Given the description of an element on the screen output the (x, y) to click on. 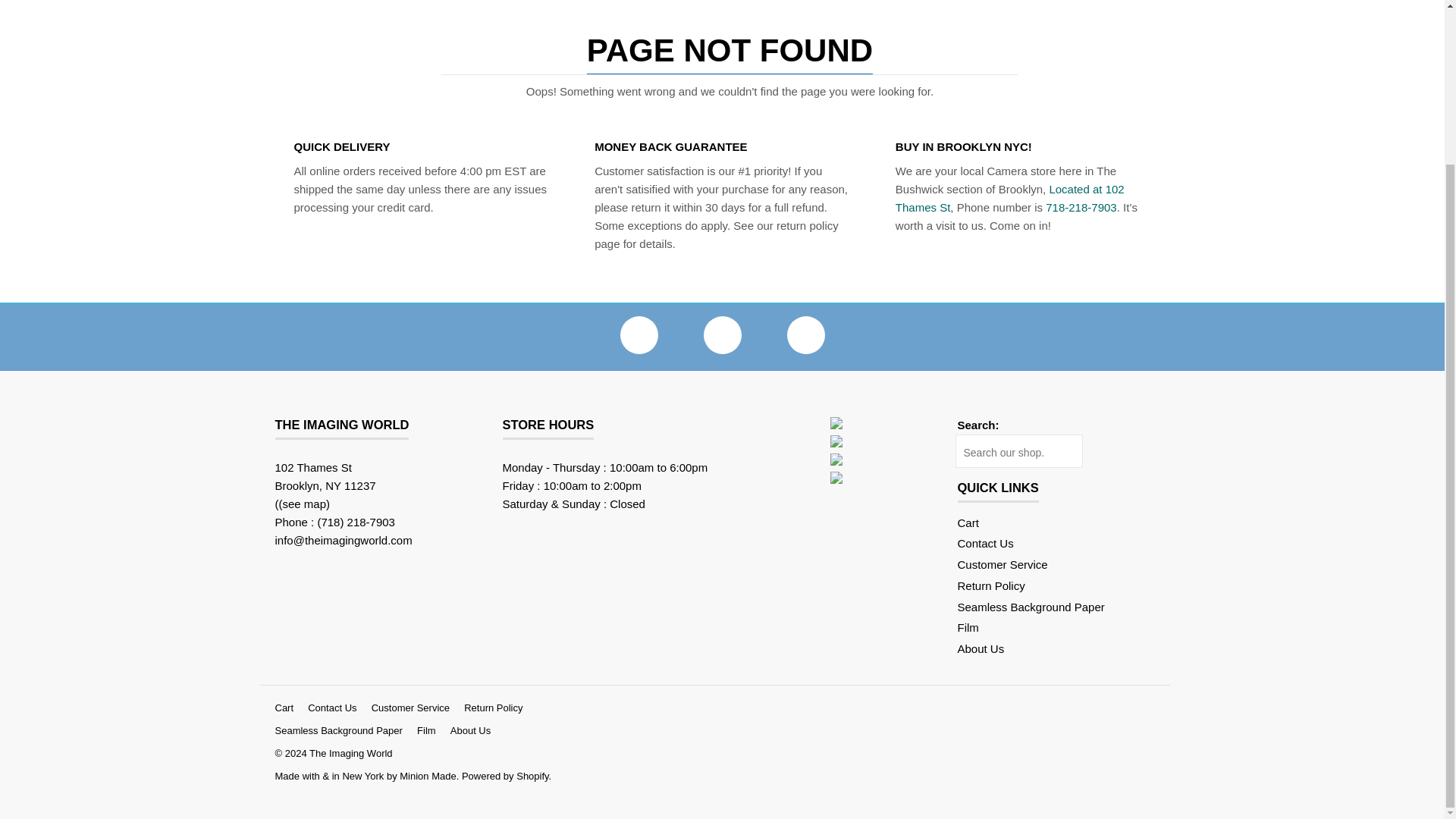
Cart (967, 522)
Cart (967, 522)
Contact Us (984, 543)
Return Policy (990, 585)
Seamless Background Paper (1029, 606)
718-218-7903 (1080, 206)
Seamless Background Paper (1029, 606)
Customer Service (1001, 563)
Return Policy (990, 585)
